Given the description of an element on the screen output the (x, y) to click on. 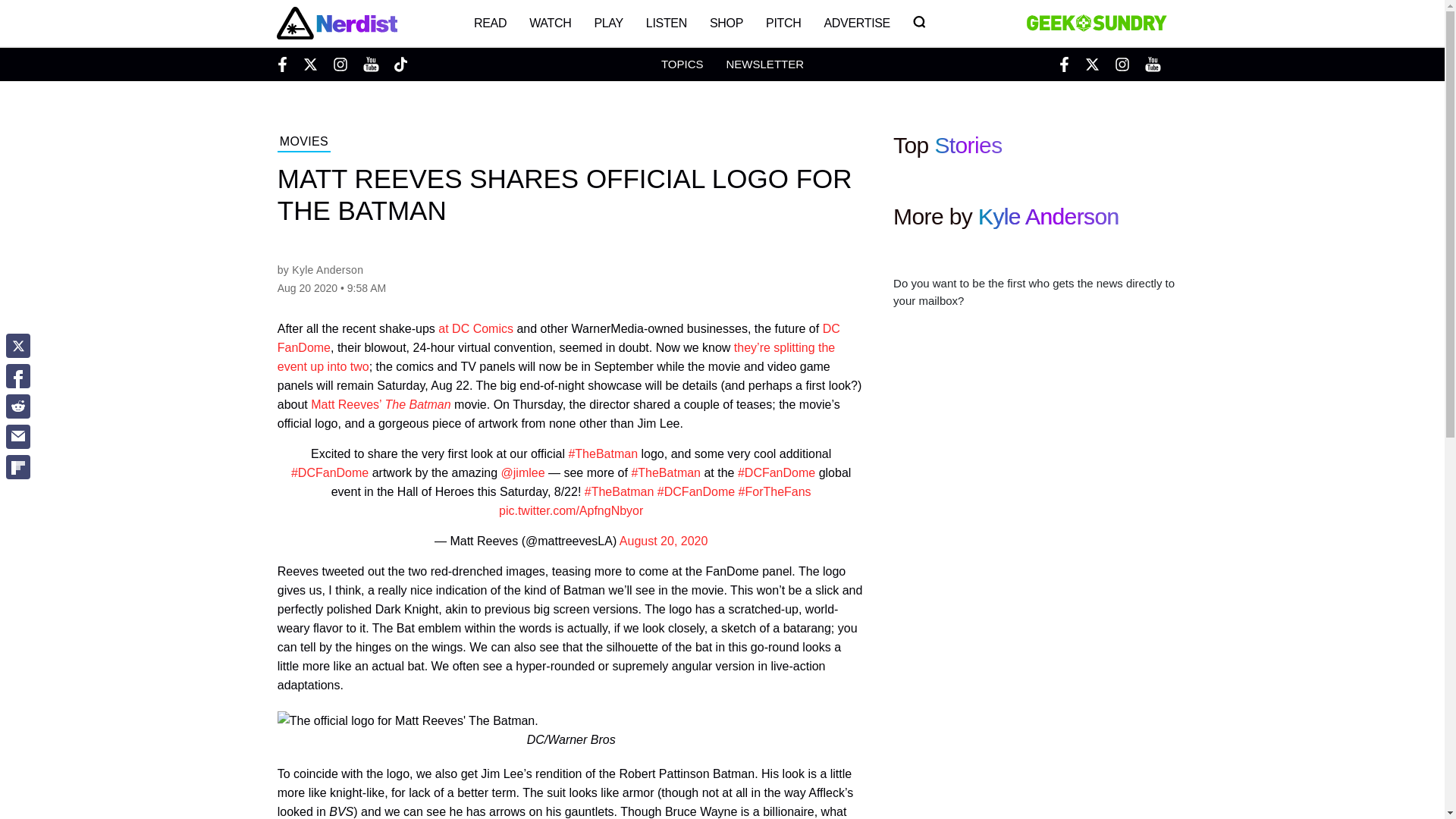
READ (490, 22)
WATCH (550, 22)
PITCH (783, 22)
DC FanDome (559, 337)
SHOP (726, 22)
NEWSLETTER (764, 63)
Twitter Nerdist (309, 63)
Youtube Nerdist (370, 63)
TOPICS (681, 63)
Nerdist (336, 23)
Instagram Nerdist (339, 63)
Newsletter (764, 63)
READ (490, 22)
August 20, 2020 (663, 540)
Topics (681, 63)
